Given the description of an element on the screen output the (x, y) to click on. 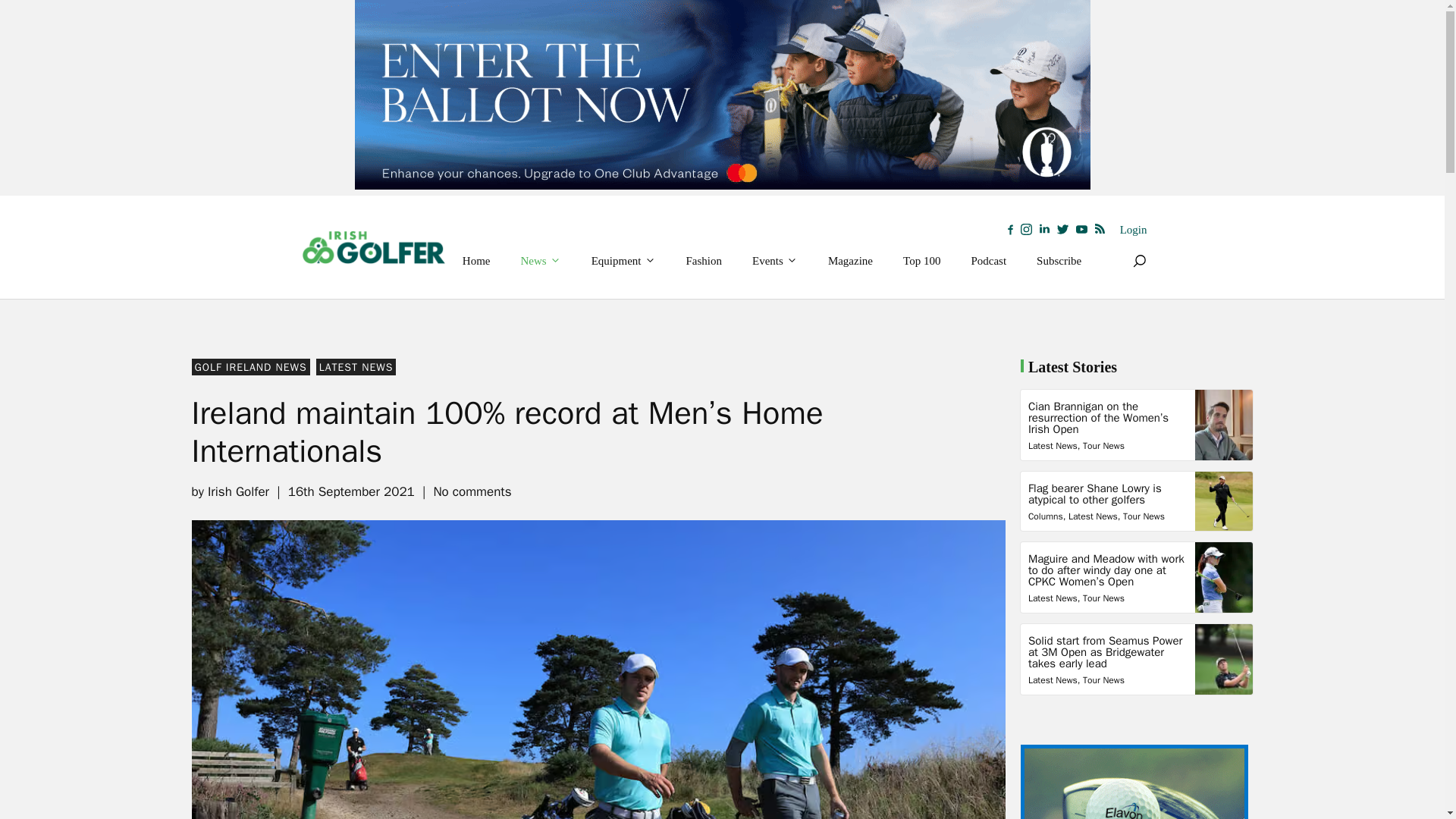
Events (774, 260)
Equipment (623, 260)
Magazine (850, 260)
News (540, 260)
Top 100 (921, 260)
Fashion (704, 260)
Podcast (988, 260)
Login (1133, 230)
Home (475, 260)
